Given the description of an element on the screen output the (x, y) to click on. 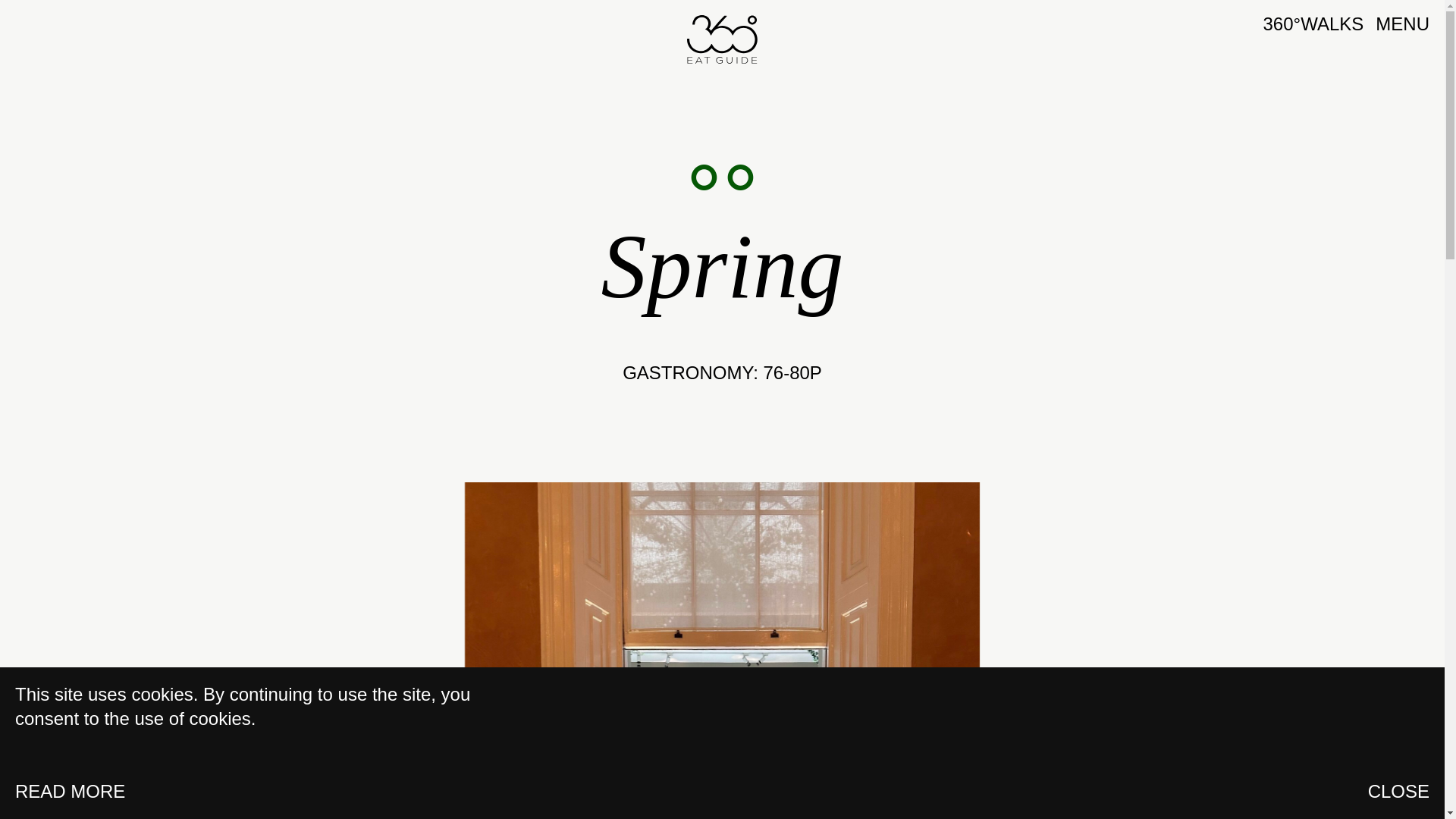
CLOSE (1398, 791)
READ MORE (69, 791)
MENU (1402, 24)
